Given the description of an element on the screen output the (x, y) to click on. 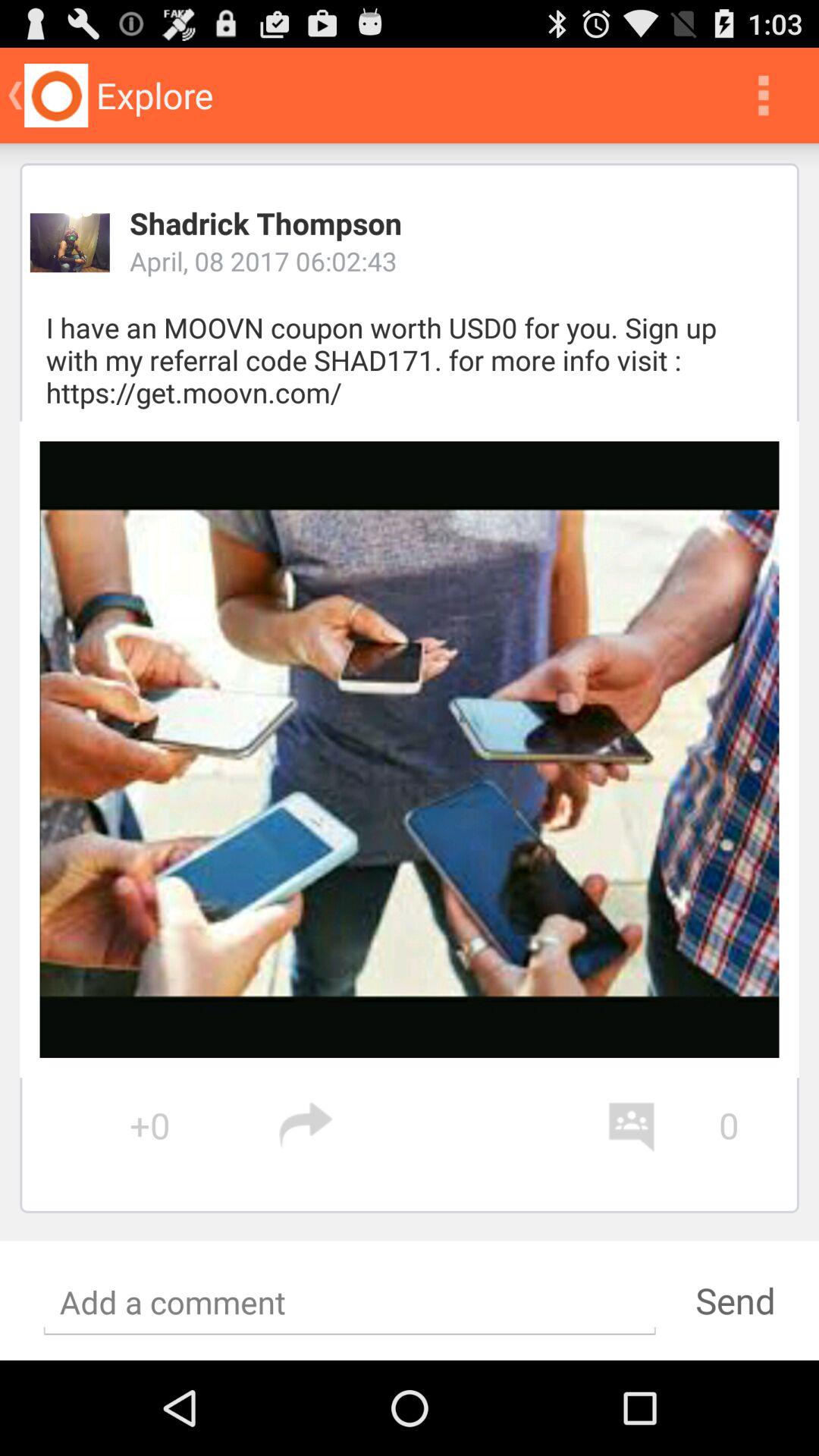
select app above the i have an icon (69, 242)
